Given the description of an element on the screen output the (x, y) to click on. 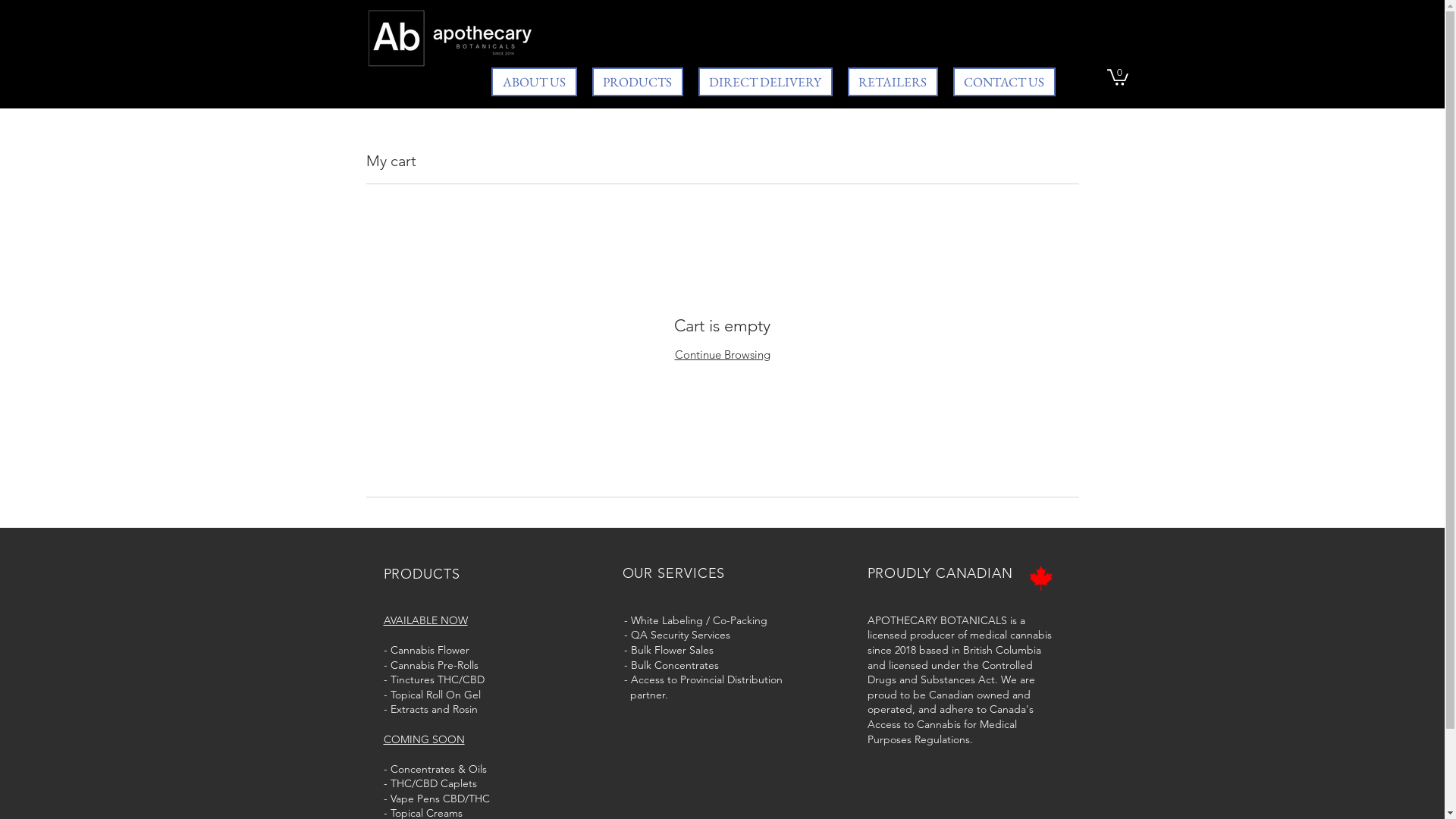
CONTACT US Element type: text (1003, 81)
0 Element type: text (1117, 76)
RETAILERS Element type: text (892, 81)
DIRECT DELIVERY Element type: text (764, 81)
Continue Browsing Element type: text (722, 354)
ABOUT US Element type: text (534, 81)
PRODUCTS Element type: text (636, 81)
